Given the description of an element on the screen output the (x, y) to click on. 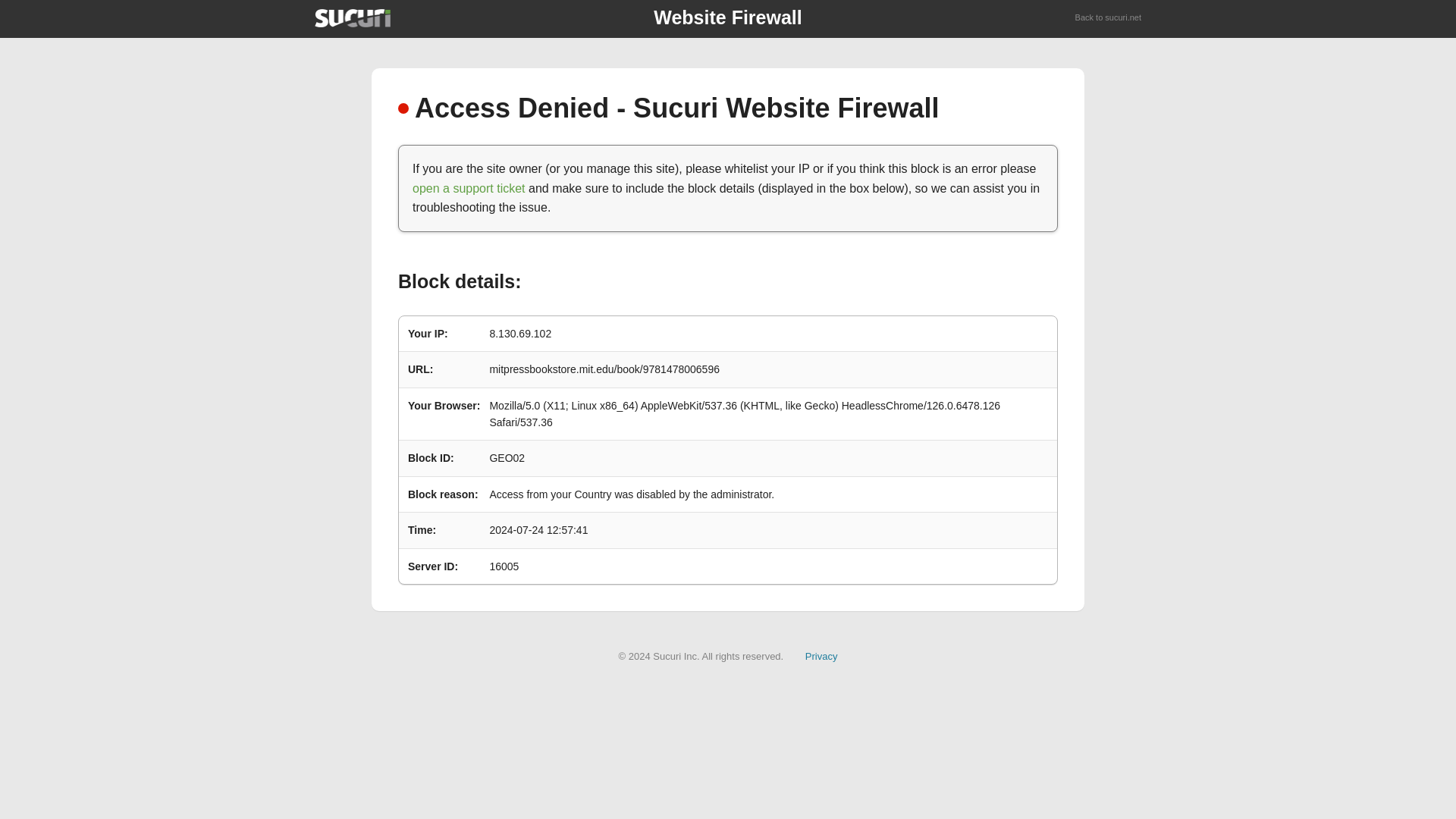
Privacy (821, 655)
Back to sucuri.net (1108, 18)
open a support ticket (468, 187)
